Given the description of an element on the screen output the (x, y) to click on. 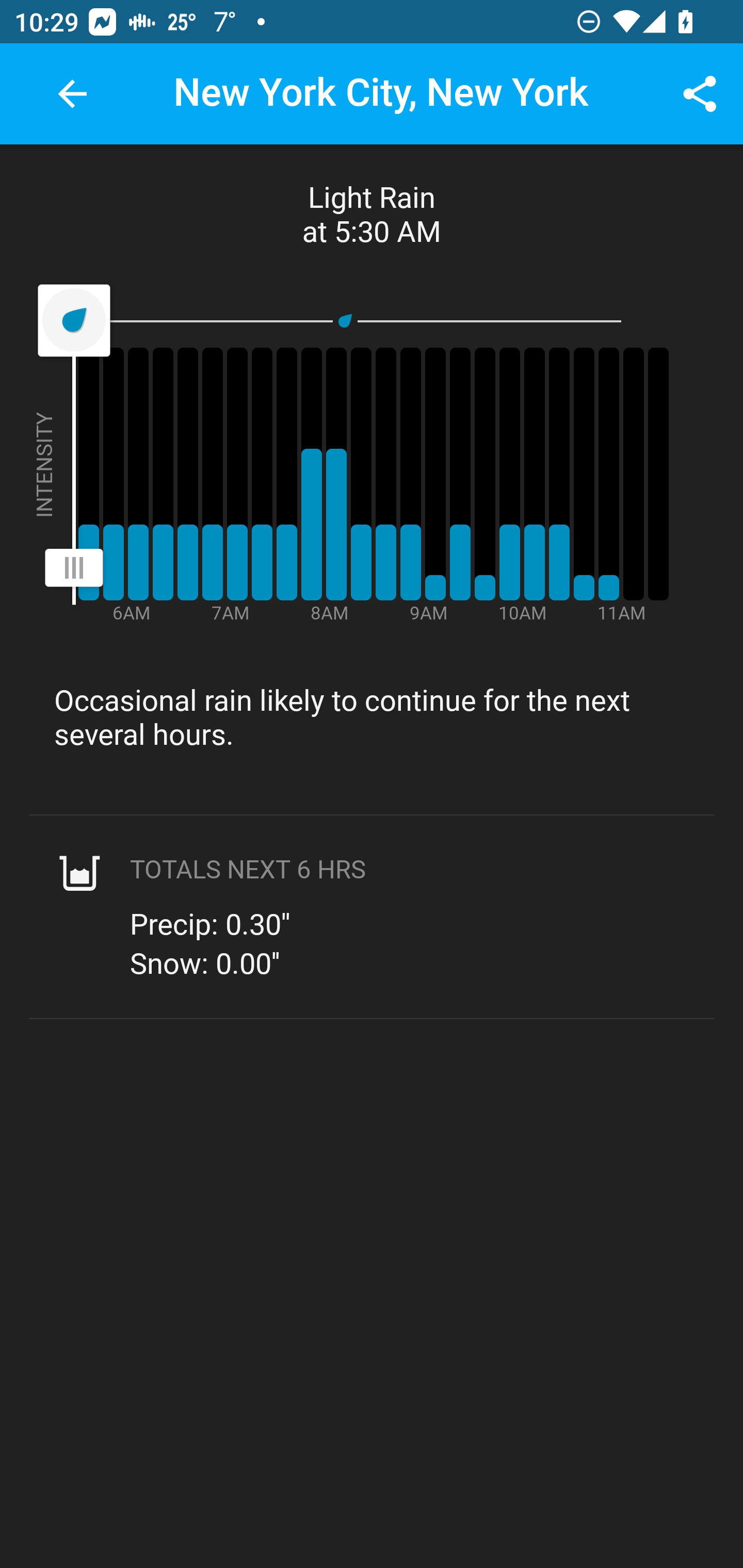
back (71, 93)
Share (699, 93)
